Given the description of an element on the screen output the (x, y) to click on. 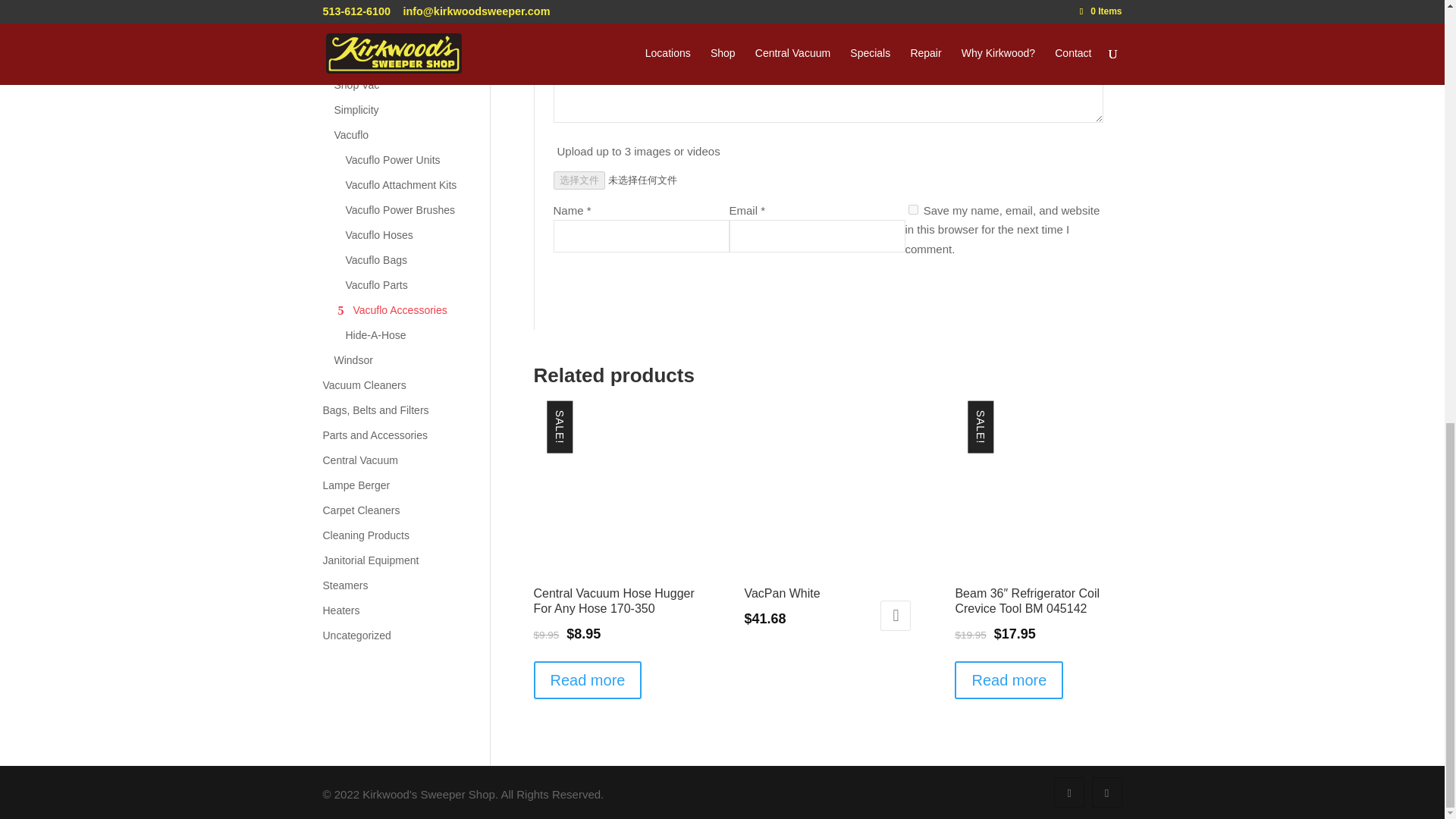
Submit (1063, 292)
Read more (588, 679)
Submit (1063, 292)
Add to cart (895, 615)
Read more (1008, 679)
yes (913, 209)
